Given the description of an element on the screen output the (x, y) to click on. 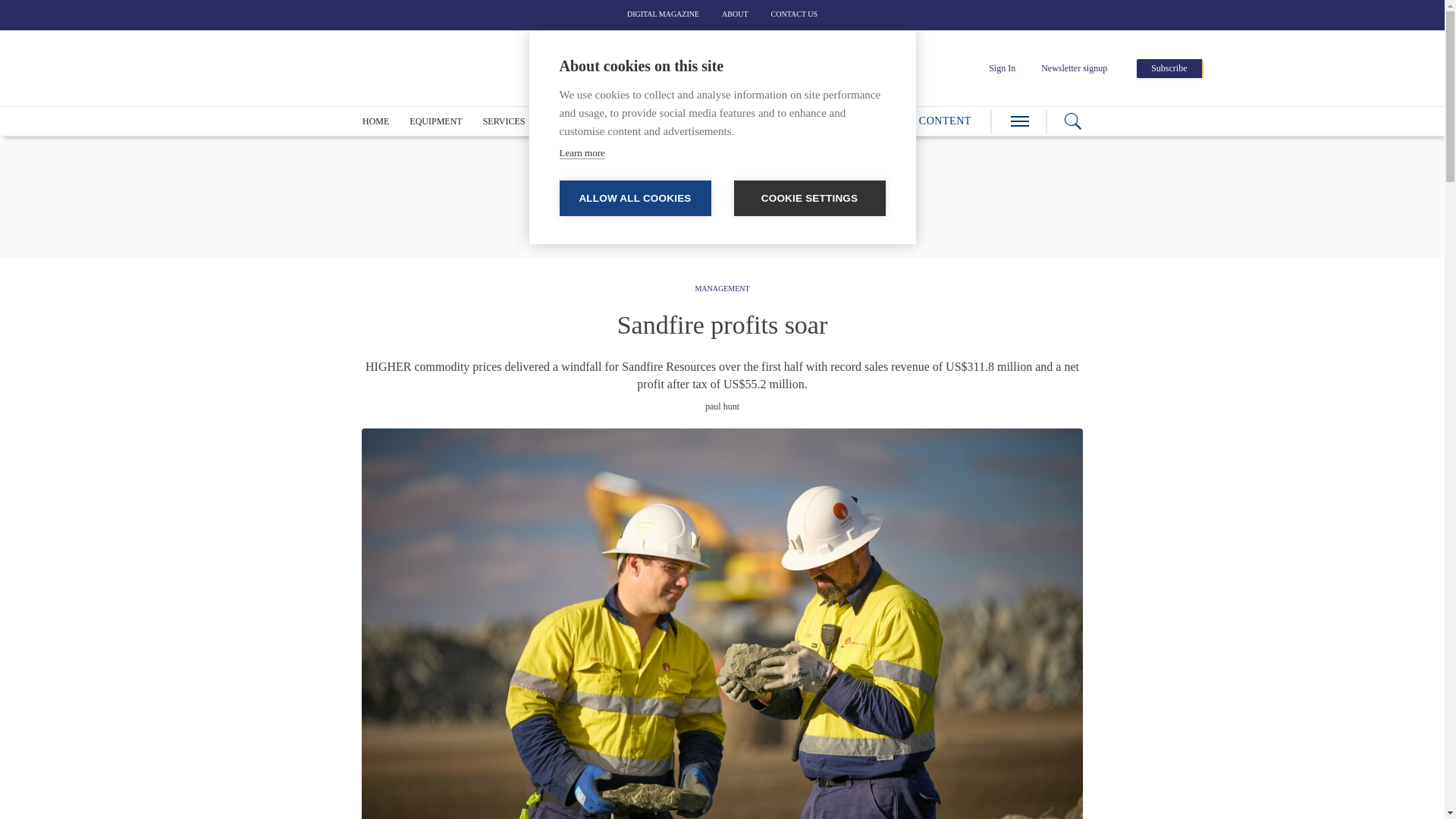
ABOUT (735, 13)
Subscribe (1169, 67)
Esg (636, 121)
Opinion (684, 121)
Research (747, 121)
Home (375, 121)
CONTACT US (794, 13)
Learn more (582, 152)
COOKIE SETTINGS (809, 198)
ALLOW ALL COOKIES (635, 198)
TECHNOLOGY (575, 121)
Services (504, 121)
Equipment (435, 121)
Newsletter signup (1073, 68)
OPINION (684, 121)
